Given the description of an element on the screen output the (x, y) to click on. 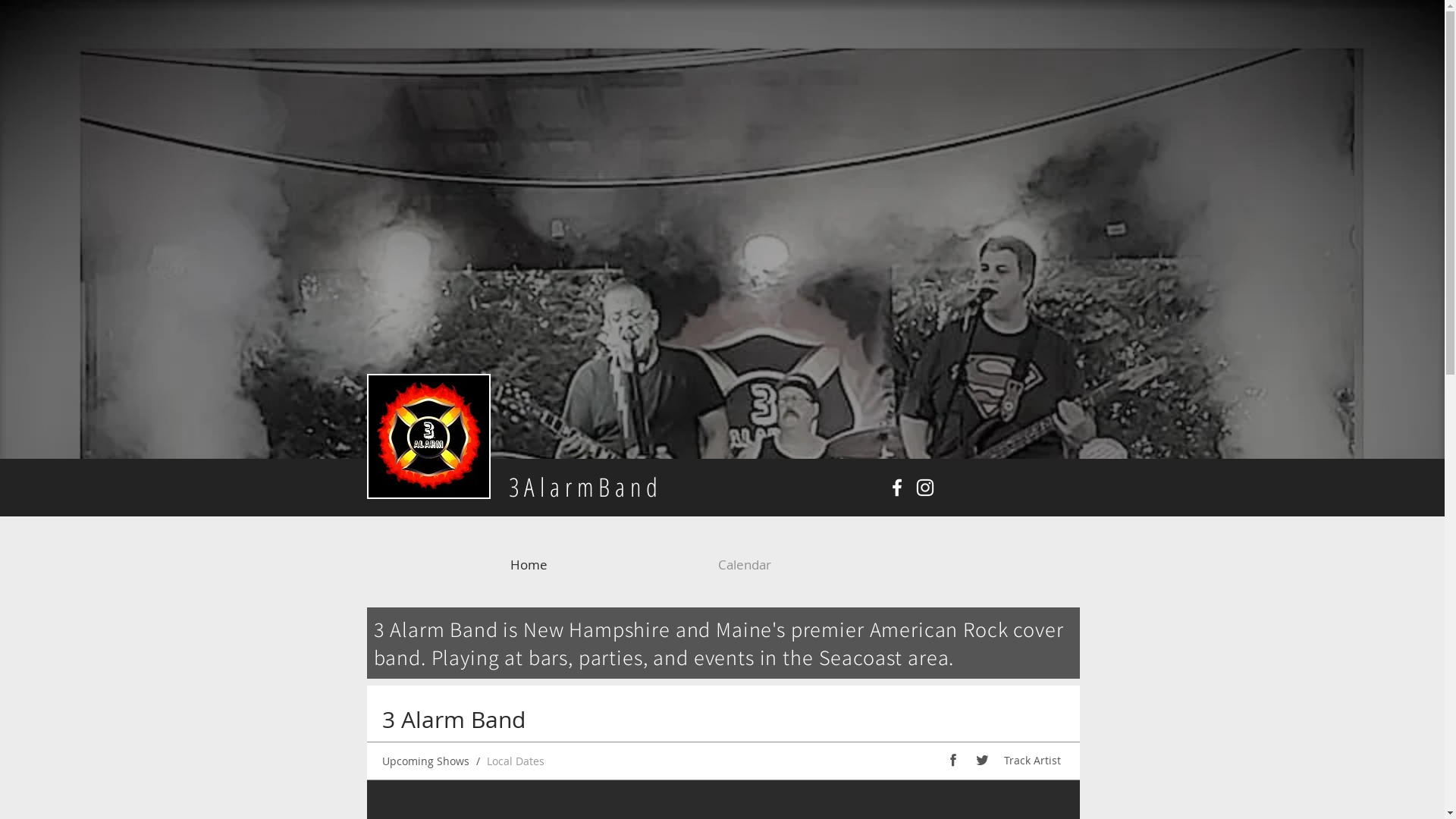
Home Element type: text (602, 564)
Calendar Element type: text (818, 564)
